Given the description of an element on the screen output the (x, y) to click on. 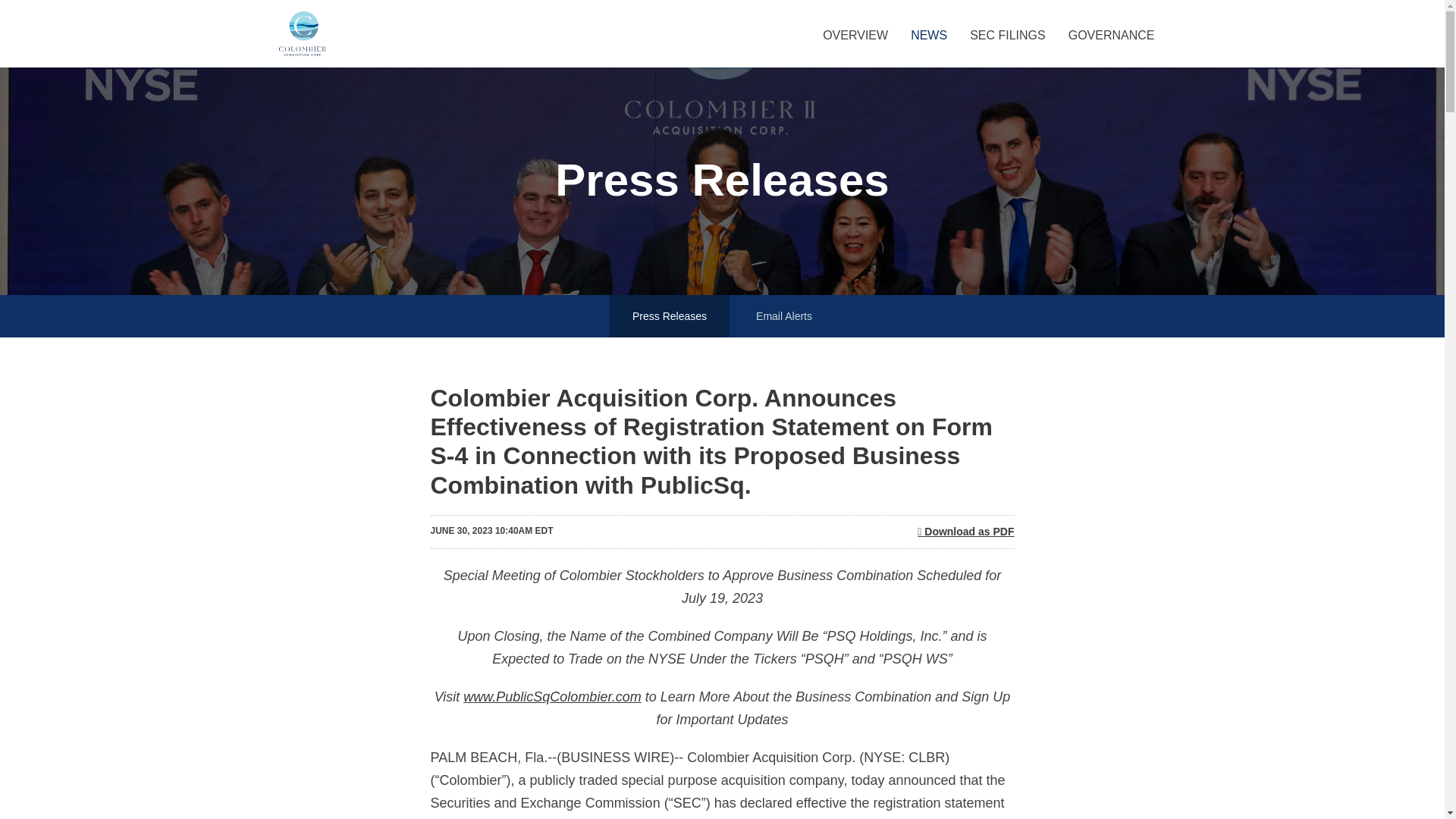
GOVERNANCE (1111, 46)
Press Releases (669, 315)
NEWS (928, 46)
www.PublicSqColombier.com (551, 696)
Download as PDF (965, 531)
SEC FILINGS (1007, 46)
OVERVIEW (854, 46)
Email Alerts (783, 315)
